Given the description of an element on the screen output the (x, y) to click on. 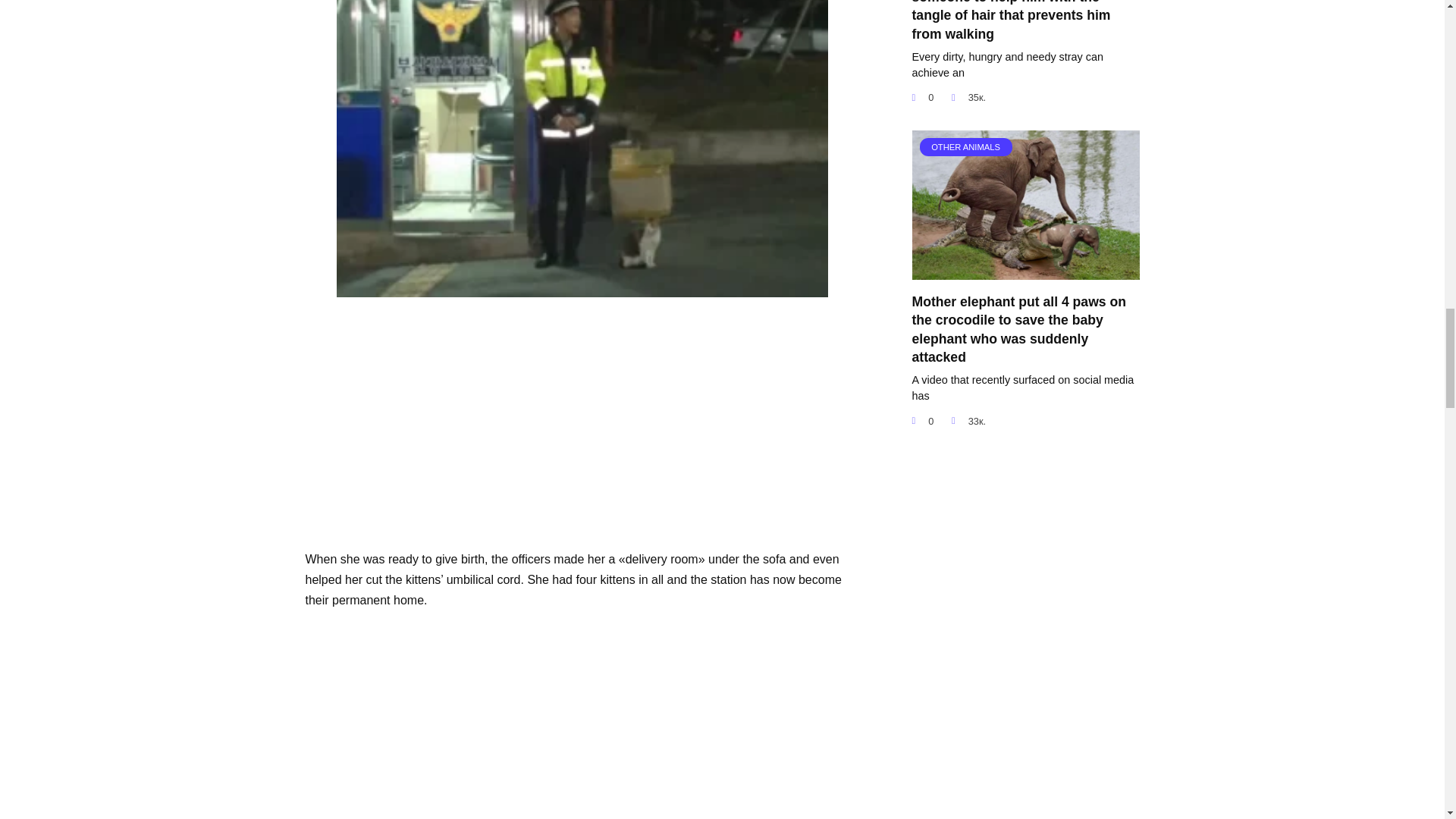
Advertisement (581, 424)
OTHER ANIMALS (1024, 269)
Advertisement (581, 724)
